Given the description of an element on the screen output the (x, y) to click on. 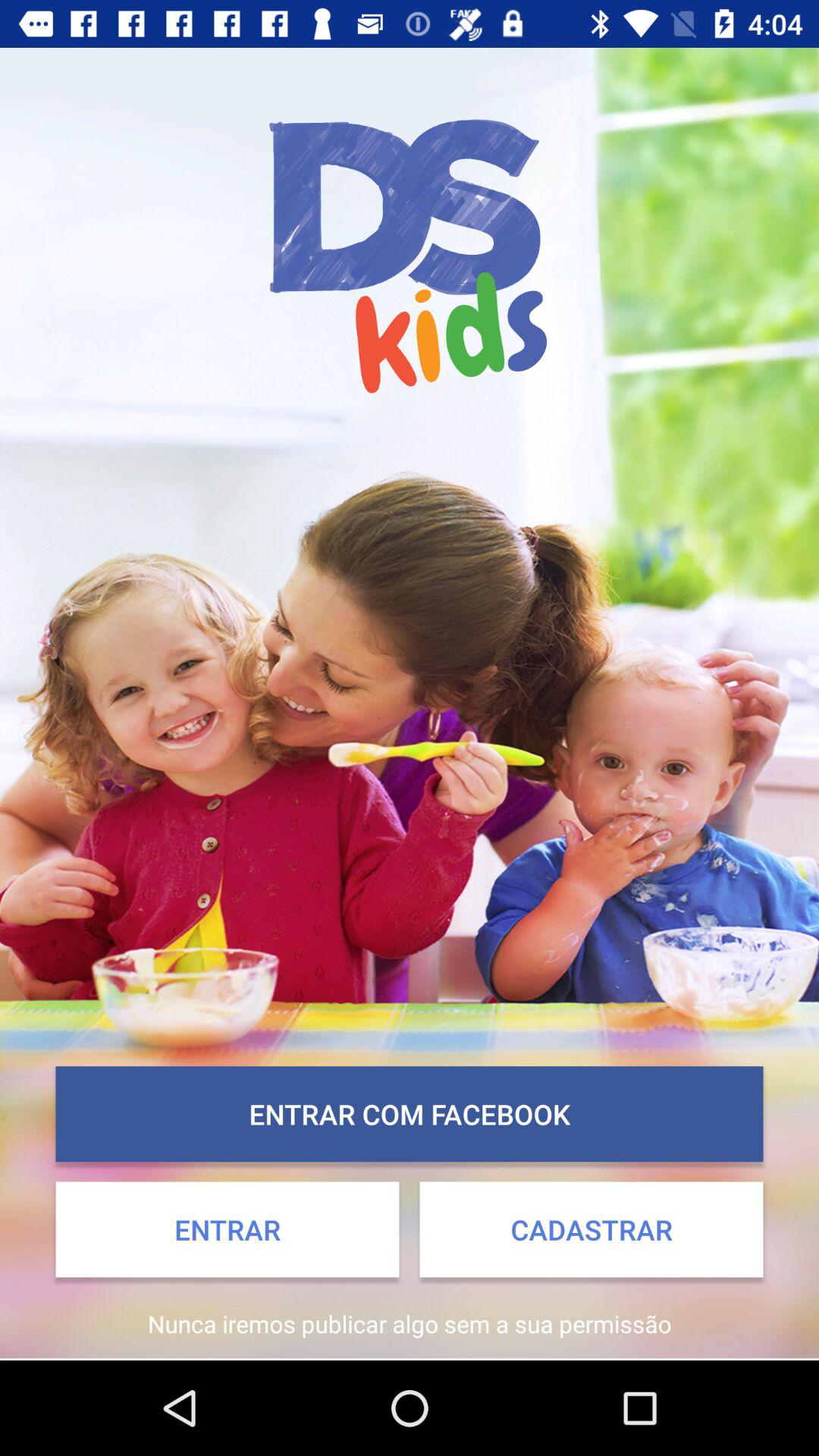
turn on entrar com facebook (409, 1113)
